Given the description of an element on the screen output the (x, y) to click on. 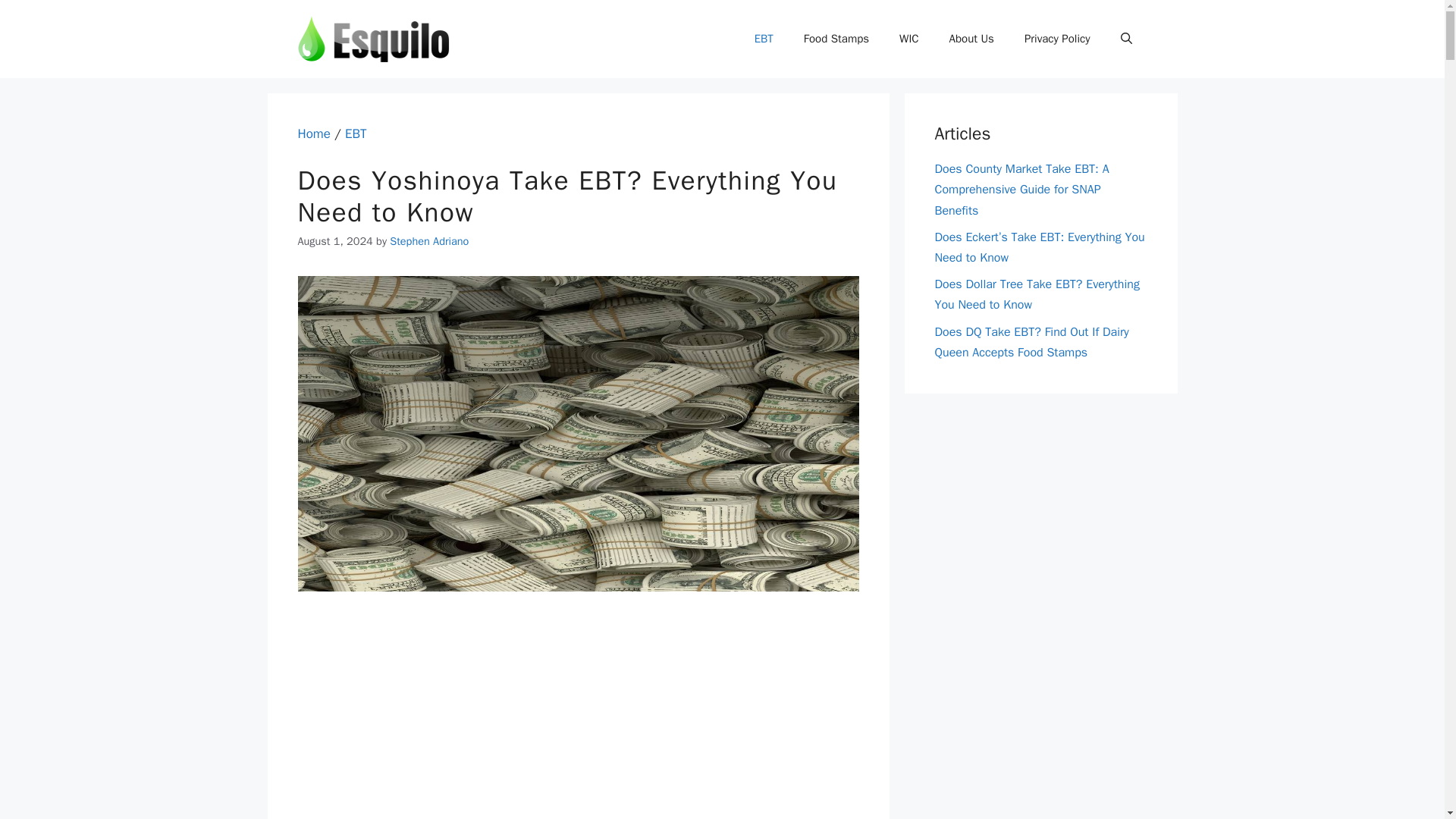
Stephen Adriano (429, 241)
WIC (908, 38)
Does Dollar Tree Take EBT? Everything You Need to Know (1036, 294)
Home (313, 133)
EBT (355, 133)
EBT (764, 38)
View all posts by Stephen Adriano (429, 241)
